Given the description of an element on the screen output the (x, y) to click on. 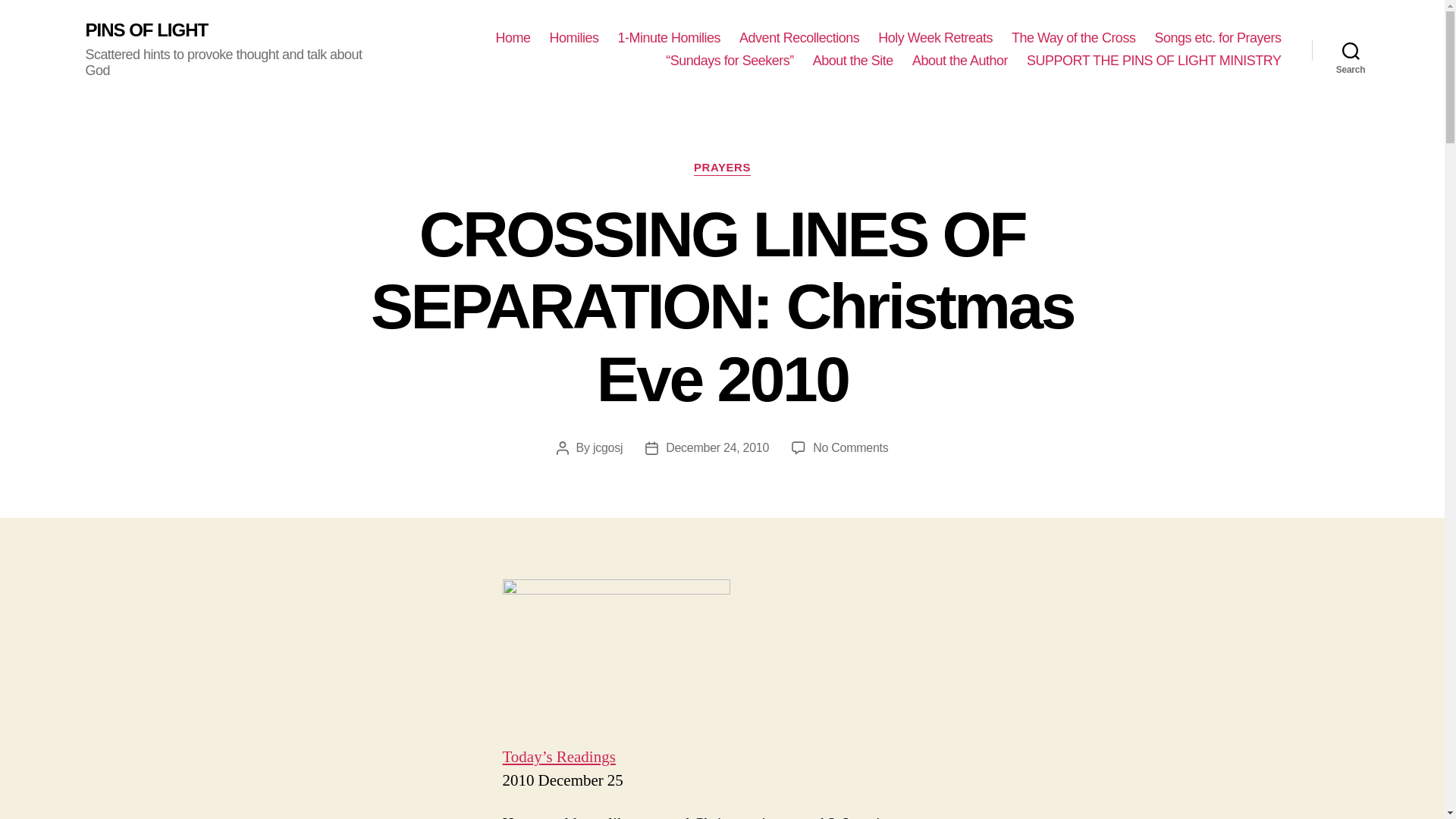
Songs etc. for Prayers (1217, 38)
jcgosj (607, 447)
Home (512, 38)
Homilies (573, 38)
The Way of the Cross (1073, 38)
1-Minute Homilies (668, 38)
PRAYERS (722, 168)
PINS OF LIGHT (146, 30)
December 24, 2010 (716, 447)
Advent Recollections (799, 38)
